Given the description of an element on the screen output the (x, y) to click on. 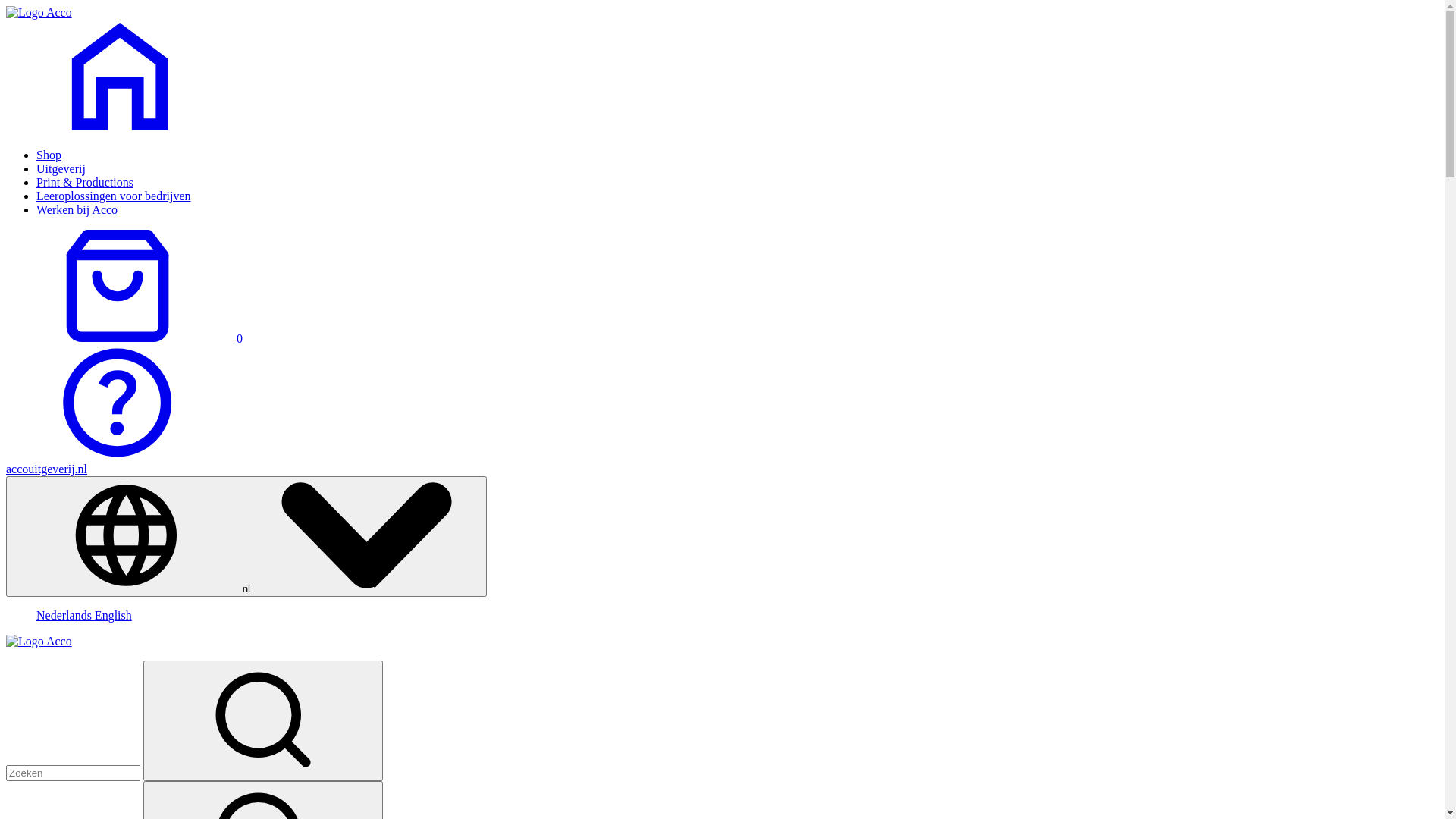
Shop Element type: text (48, 154)
Print & Productions Element type: text (84, 181)
Home Element type: hover (39, 640)
Home Element type: hover (119, 128)
Uitgeverij Element type: text (60, 168)
Werken bij Acco Element type: text (76, 209)
accouitgeverij.nl Element type: text (46, 468)
Nederlands Element type: text (65, 614)
0 Element type: text (124, 338)
Leeroplossingen voor bedrijven Element type: text (113, 195)
English Element type: text (112, 614)
nl Element type: text (246, 536)
Home Element type: hover (39, 12)
